Given the description of an element on the screen output the (x, y) to click on. 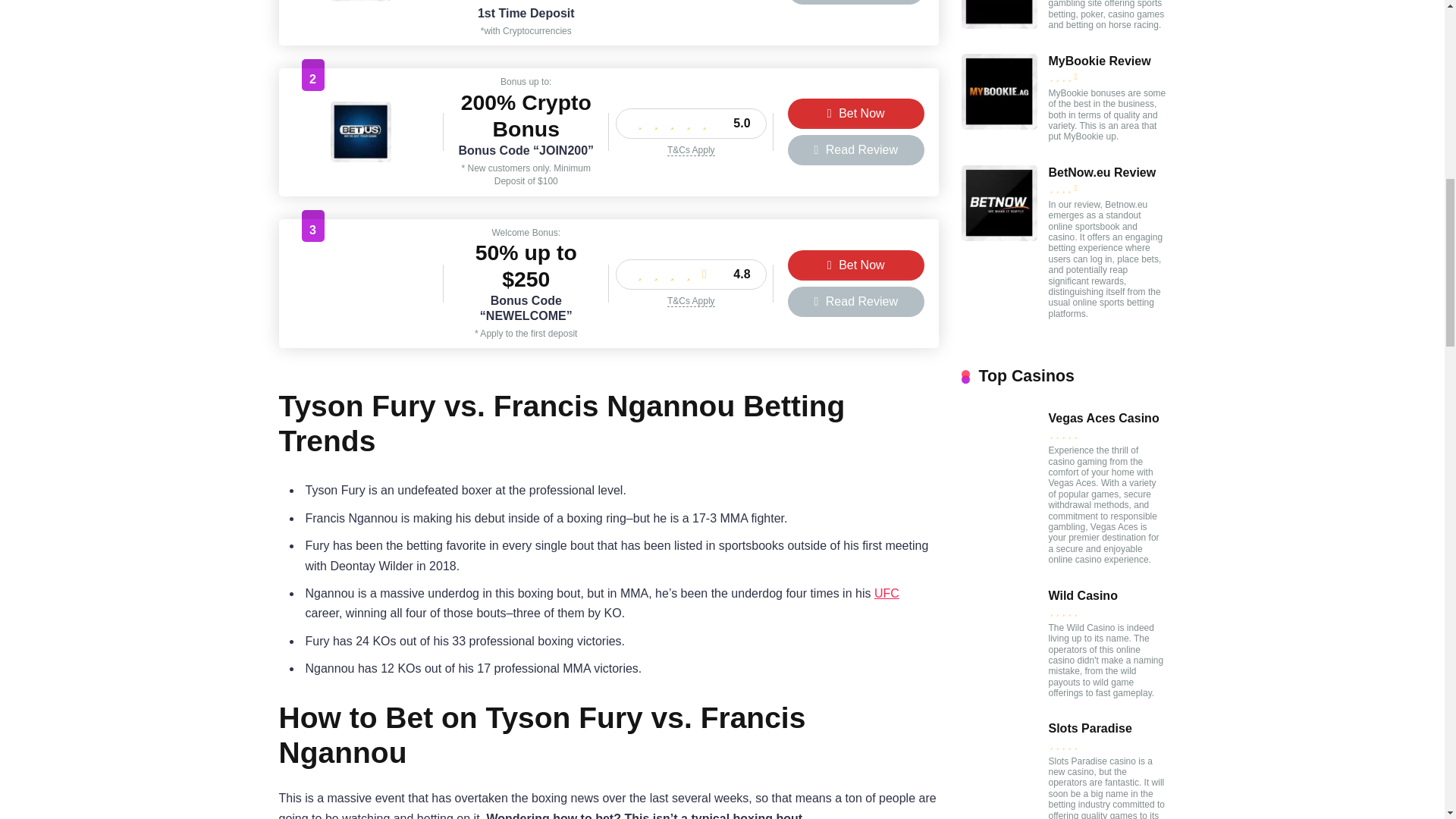
Read Review (855, 301)
Bovada Review (360, 309)
BetUS Review (360, 157)
Bet Now (855, 265)
Read Review (855, 150)
Bet Now (855, 113)
BetOnline Sportsbook Review (360, 2)
Read Review (855, 2)
